Given the description of an element on the screen output the (x, y) to click on. 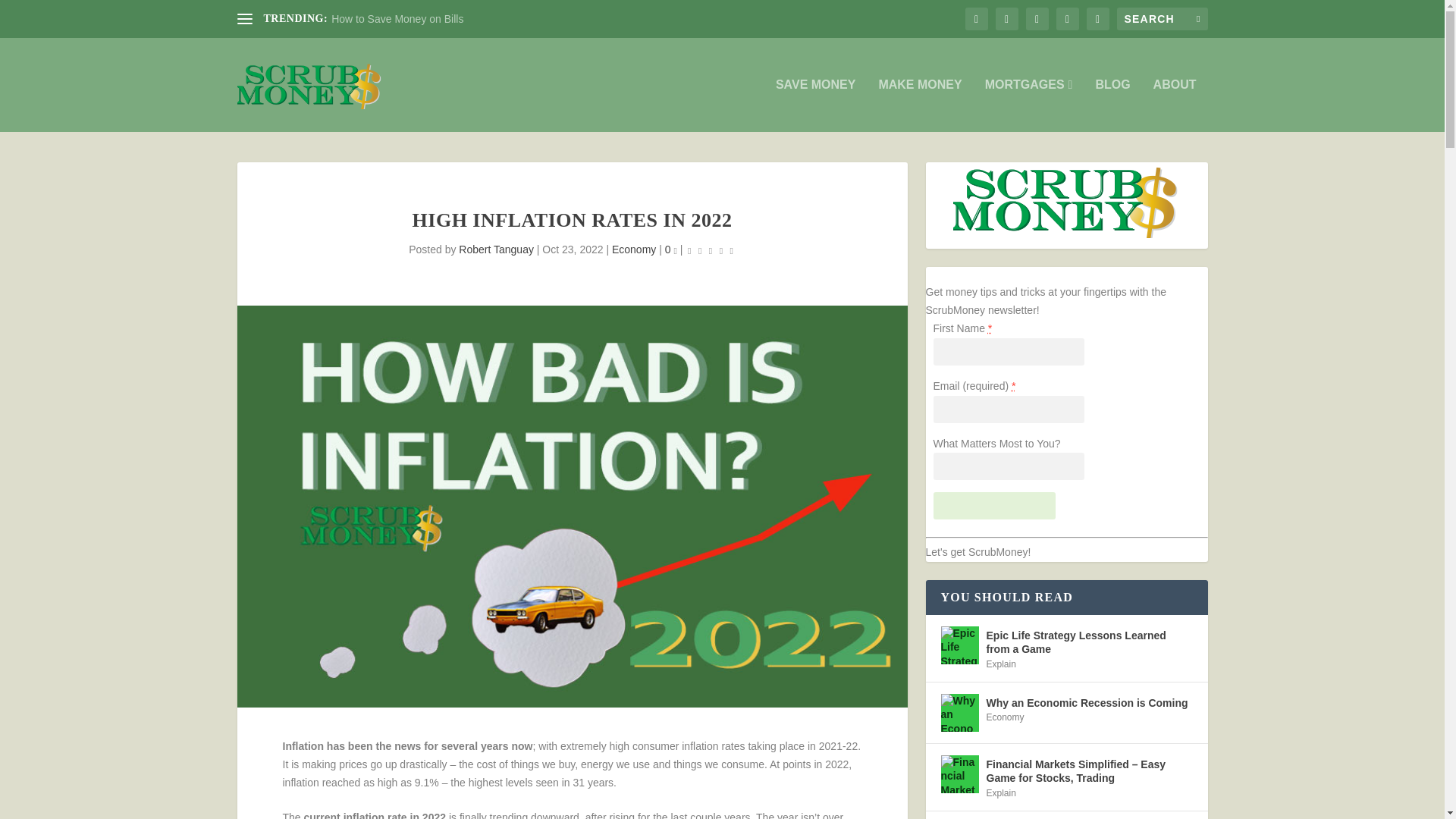
How to Save Money on Bills (397, 19)
MAKE MONEY (918, 104)
Posts by Robert Tanguay (496, 249)
Join ScrubMoney (994, 505)
Economy (633, 249)
MORTGAGES (1029, 104)
SAVE MONEY (816, 104)
Rating: 5.00 (710, 250)
0 (671, 249)
Search for: (1161, 18)
